Given the description of an element on the screen output the (x, y) to click on. 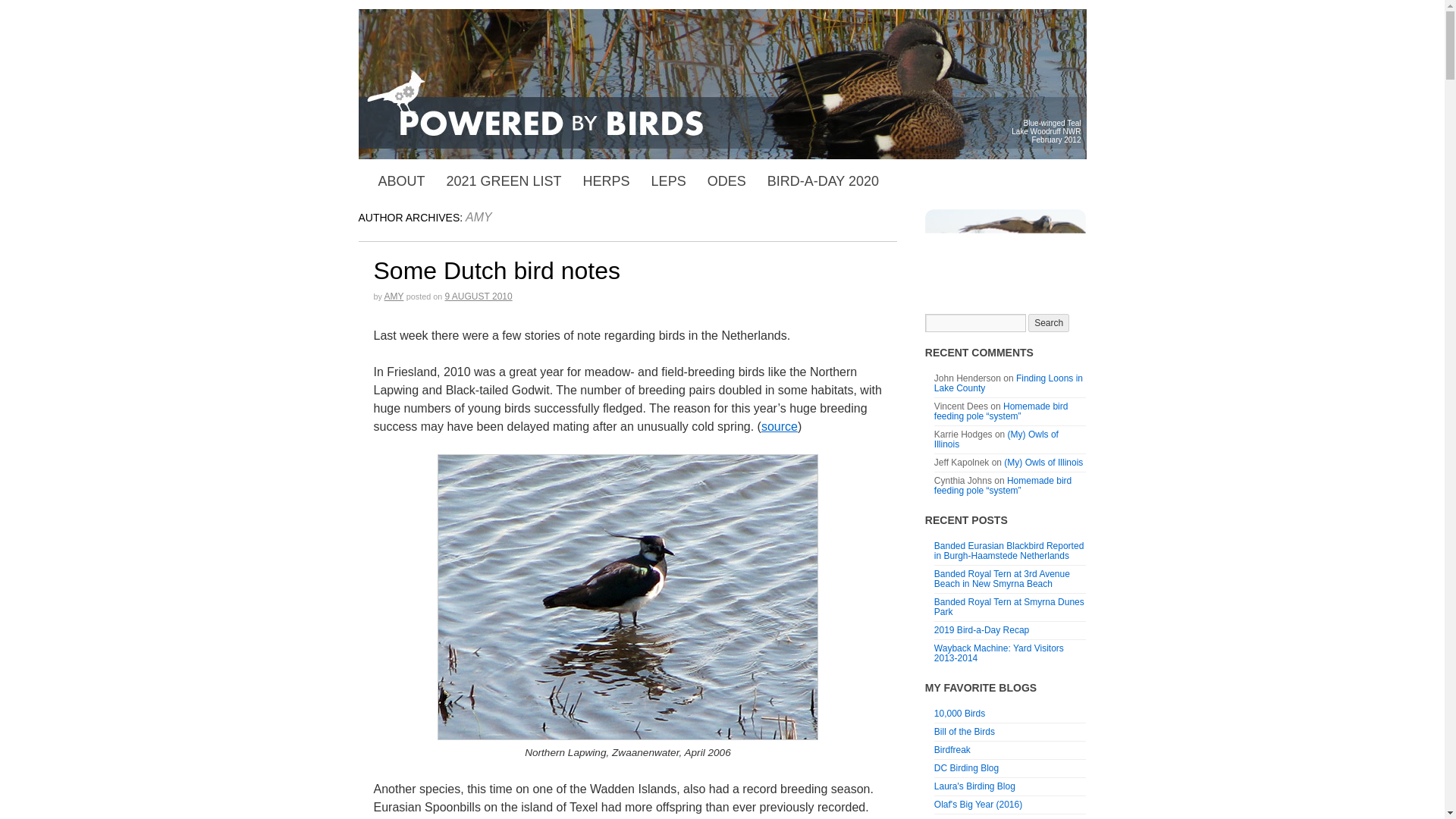
BIRD-A-DAY 2020 (823, 181)
Permalink to Some Dutch bird notes (496, 270)
Amy (478, 216)
HERPS (606, 181)
ODES (727, 181)
source (779, 426)
AMY (478, 216)
Powered by Birds (722, 83)
9 AUGUST 2010 (478, 296)
Some Dutch bird notes (496, 270)
